Given the description of an element on the screen output the (x, y) to click on. 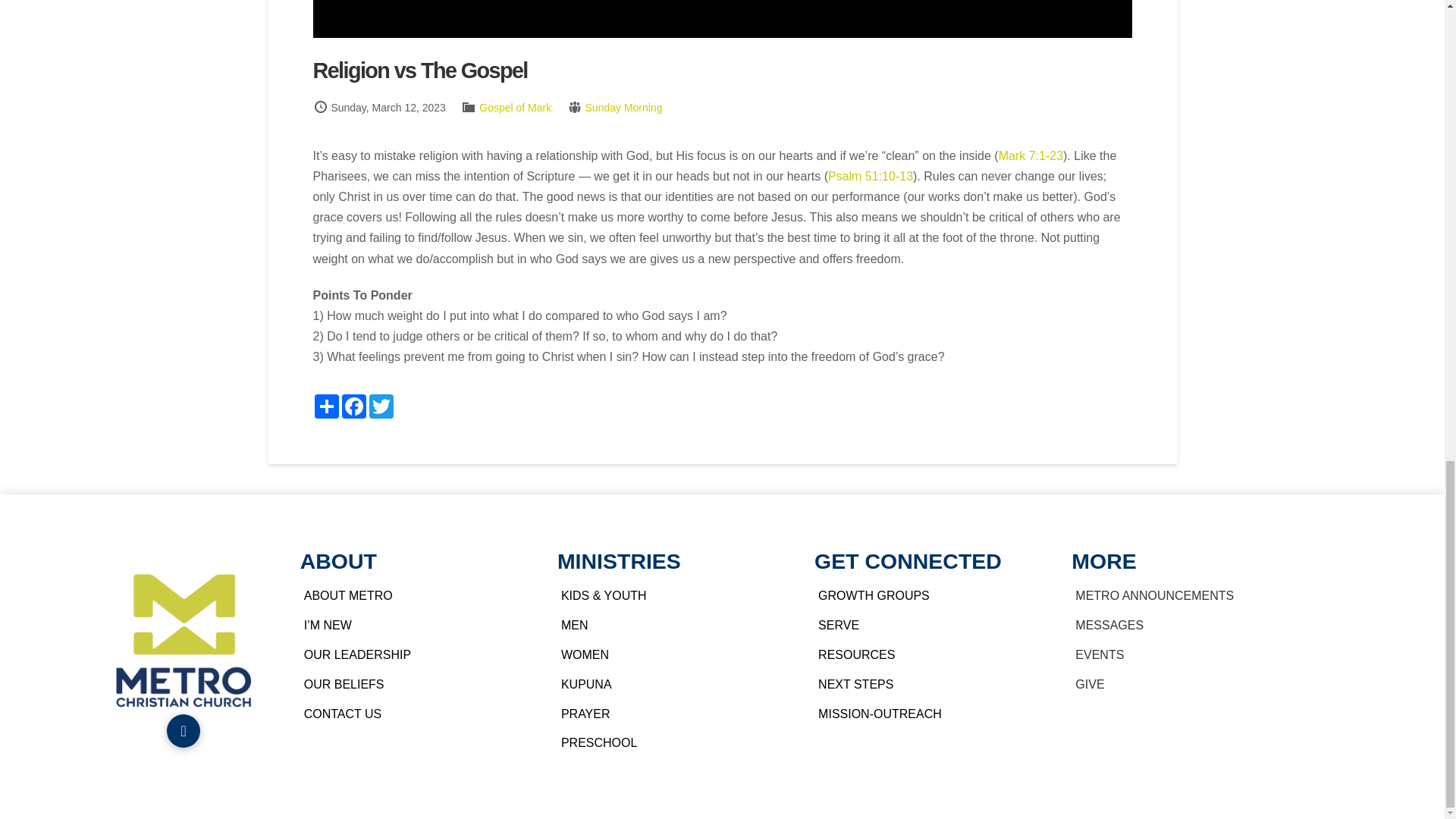
KUPUNA (673, 684)
OUR LEADERSHIP (415, 655)
OUR BELIEFS (415, 684)
Gospel of Mark (515, 107)
Twitter (380, 405)
WOMEN (673, 655)
Share (326, 405)
ABOUT METRO (415, 595)
Sunday Morning (623, 107)
Psalm 51:10-13 (870, 175)
MEN (673, 625)
Mark 7:1-23 (1030, 155)
CONTACT US (415, 713)
PRESCHOOL (673, 743)
PRAYER (673, 713)
